Given the description of an element on the screen output the (x, y) to click on. 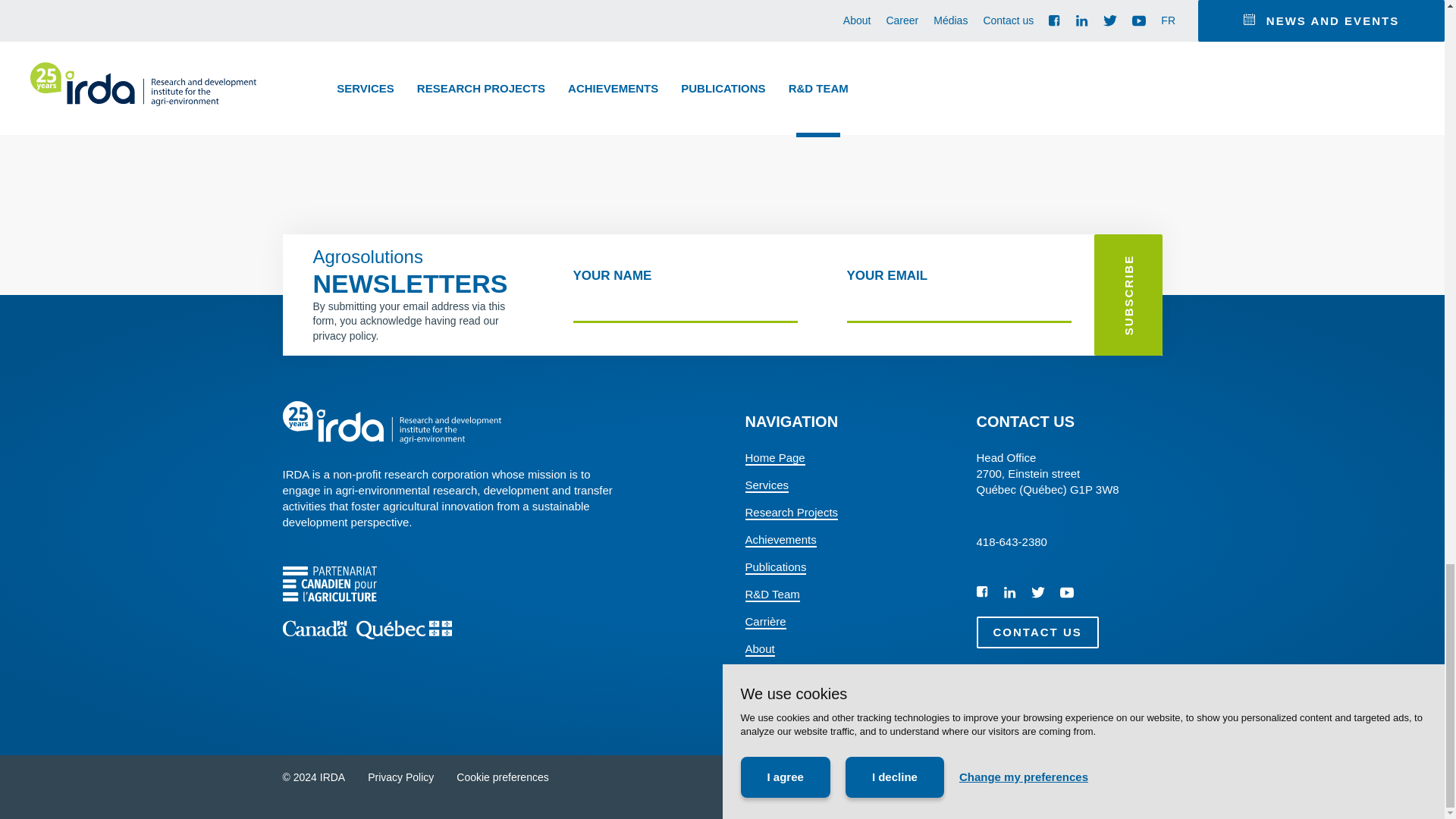
YouTube (1066, 591)
Facebook (982, 592)
LinkedIn (1010, 591)
Twitter (1037, 591)
